Given the description of an element on the screen output the (x, y) to click on. 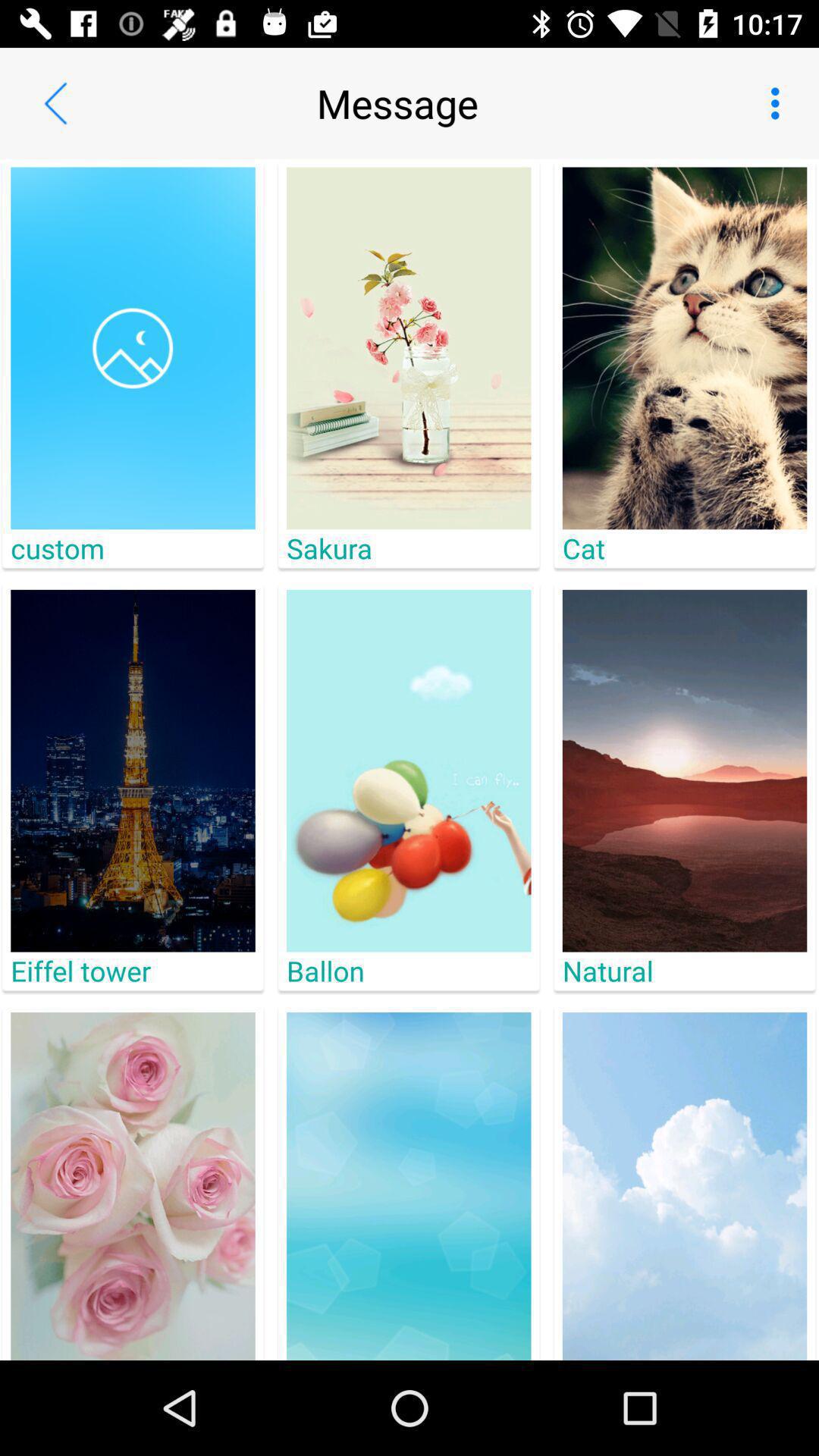
open the icon above the custom item (132, 348)
